Given the description of an element on the screen output the (x, y) to click on. 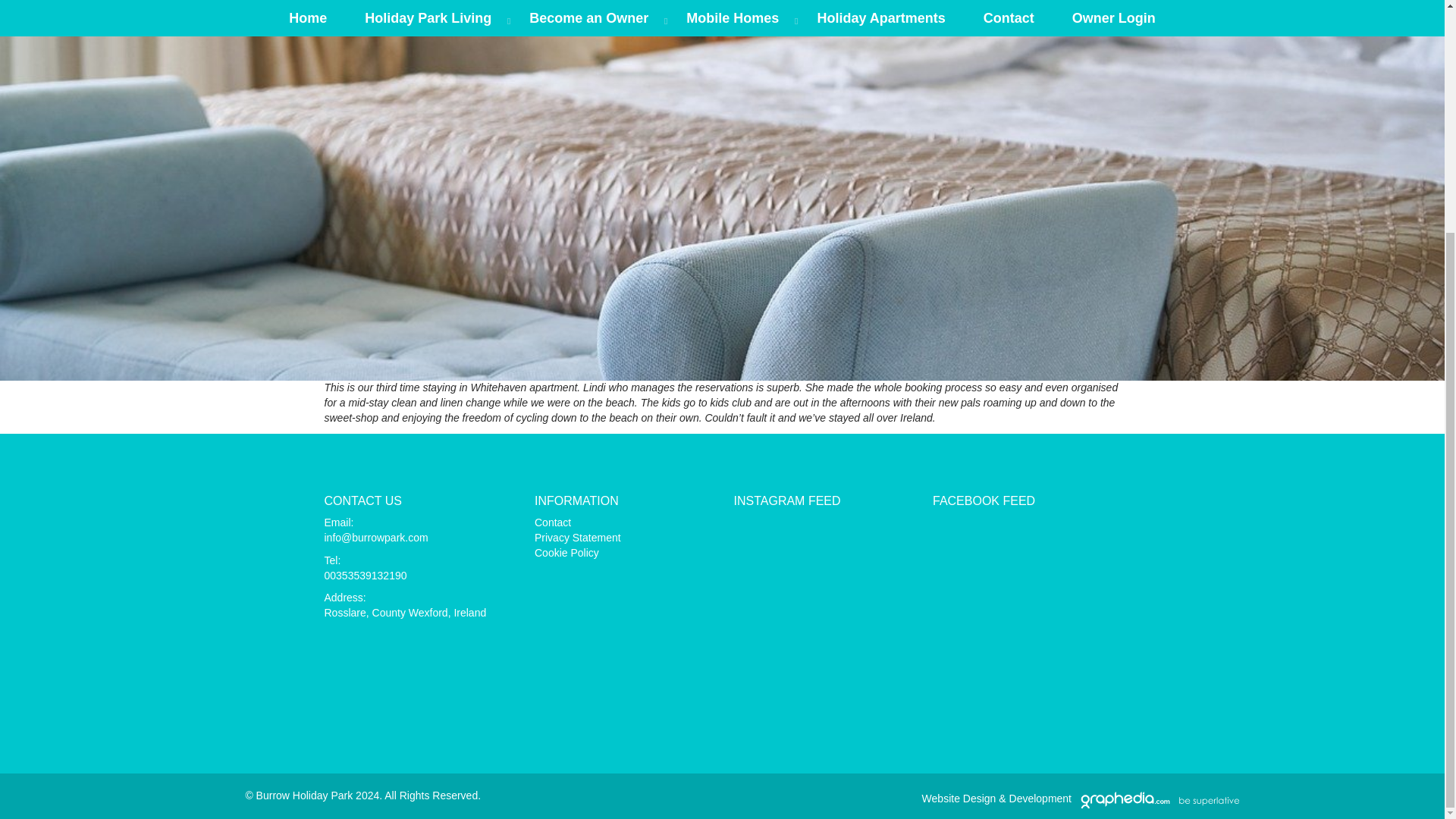
Privacy Statement (577, 537)
Cookie Policy (566, 552)
Contact (552, 522)
00353539132190 (365, 574)
Website Design (958, 798)
Development (1040, 798)
